Given the description of an element on the screen output the (x, y) to click on. 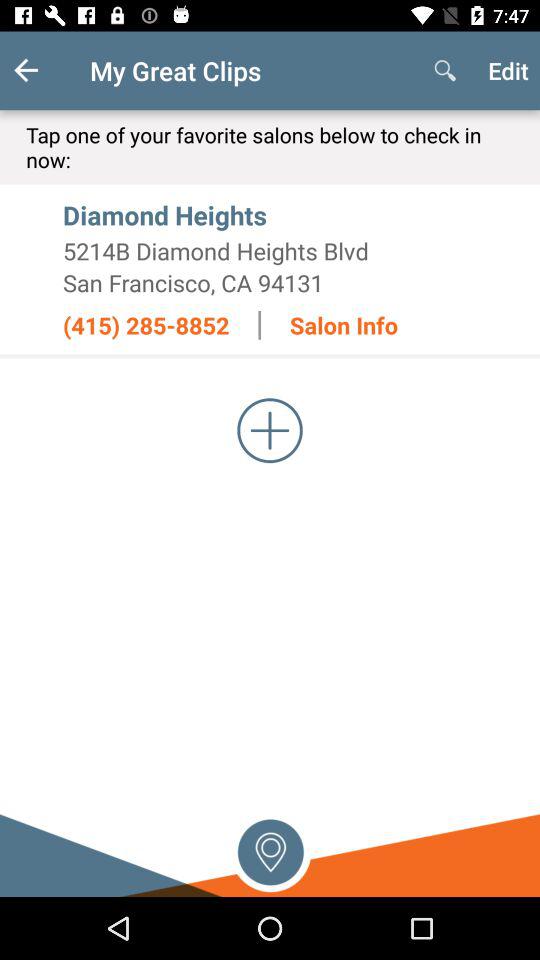
add contact (270, 430)
